Given the description of an element on the screen output the (x, y) to click on. 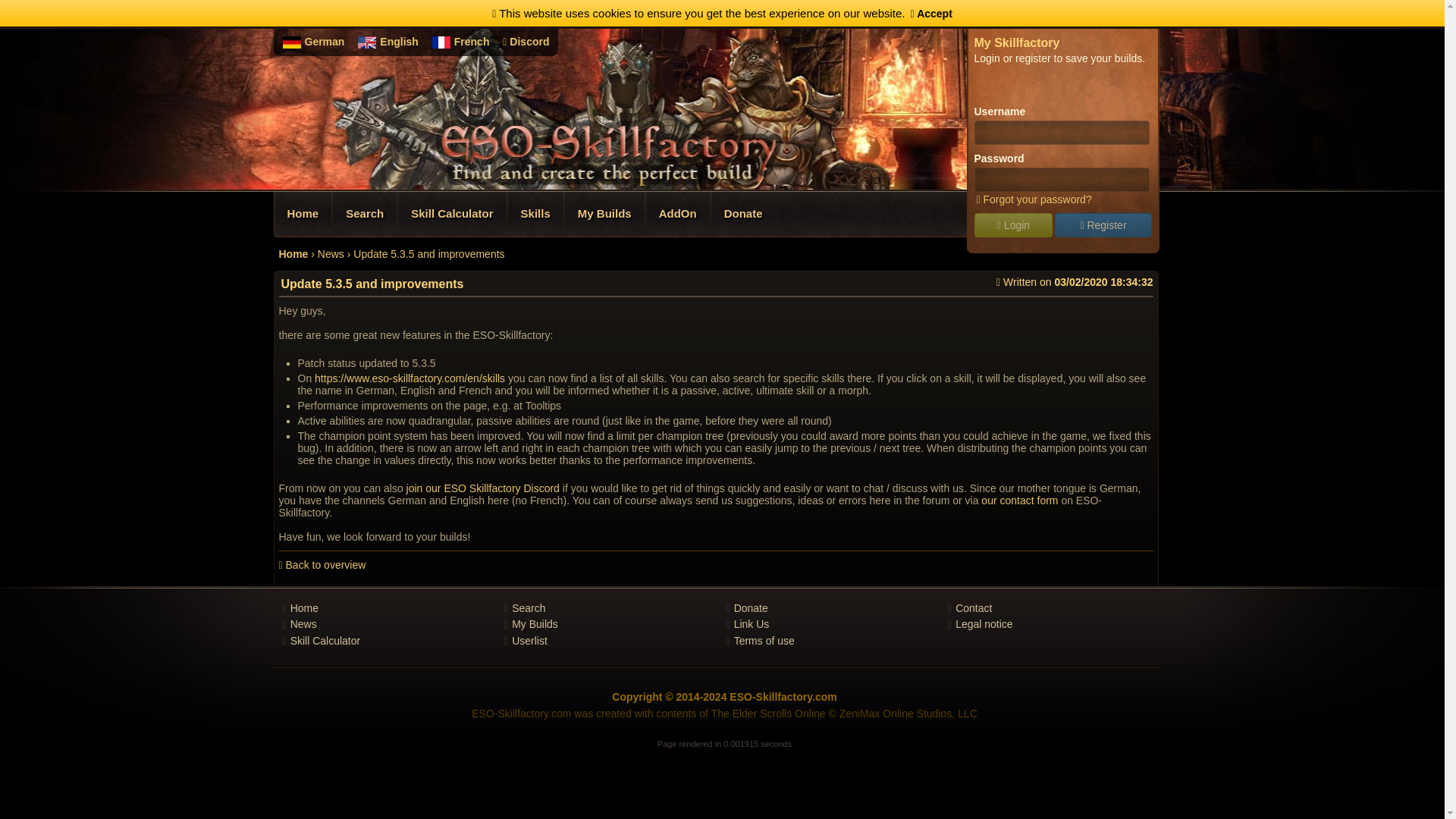
Userlist (529, 640)
Donate (743, 213)
Donate (750, 607)
Home (293, 254)
Skills (535, 213)
Forgot your password? (1032, 199)
Garian Metatron (874, 14)
join our ESO Skillfactory Discord (482, 488)
Login (1013, 224)
Home (303, 607)
Discord (525, 41)
My Builds (604, 213)
ESO-Skillfactory (603, 14)
Garian Metatron (914, 14)
French (471, 41)
